Given the description of an element on the screen output the (x, y) to click on. 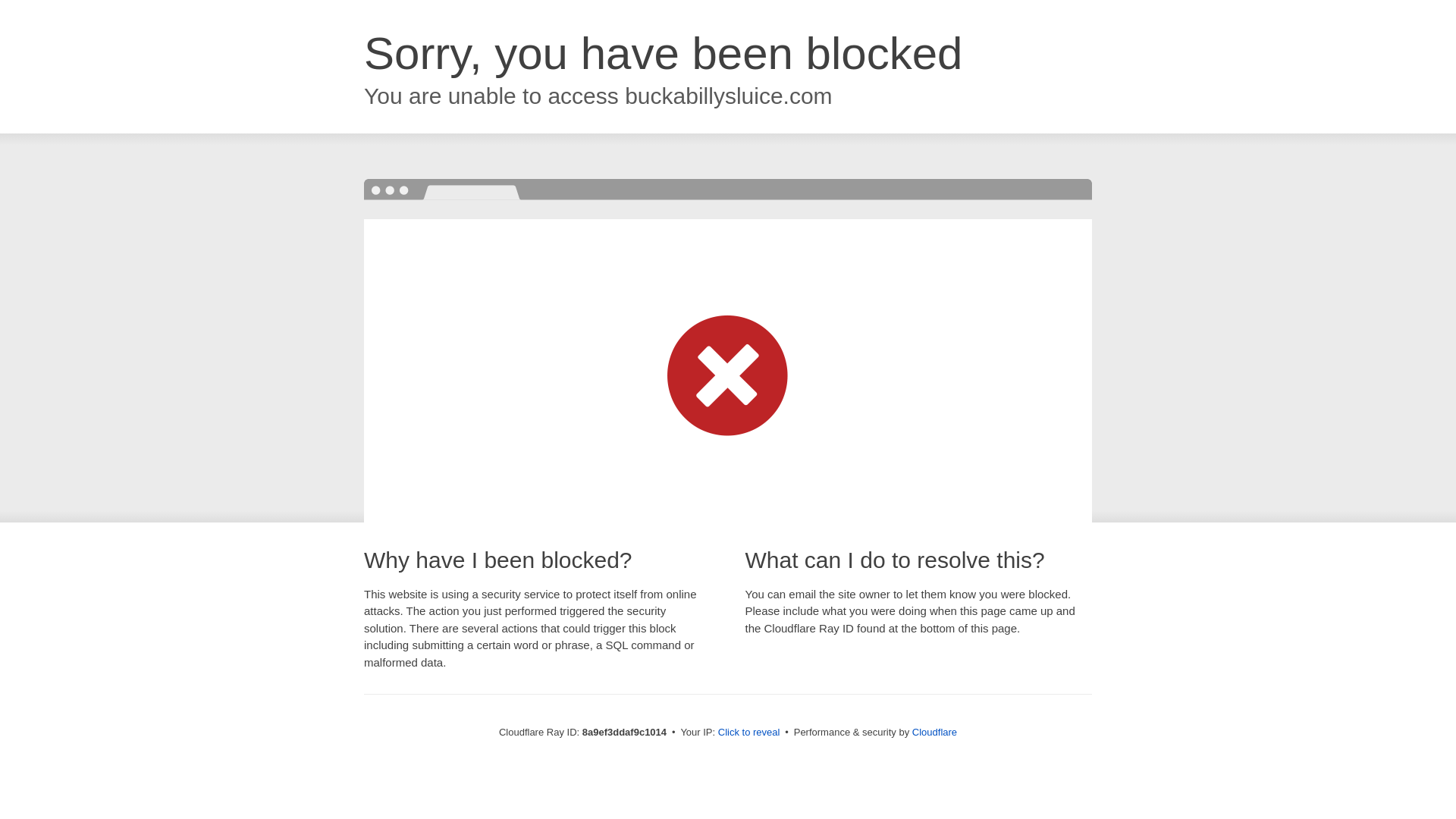
Click to reveal (748, 732)
Cloudflare (934, 731)
